Given the description of an element on the screen output the (x, y) to click on. 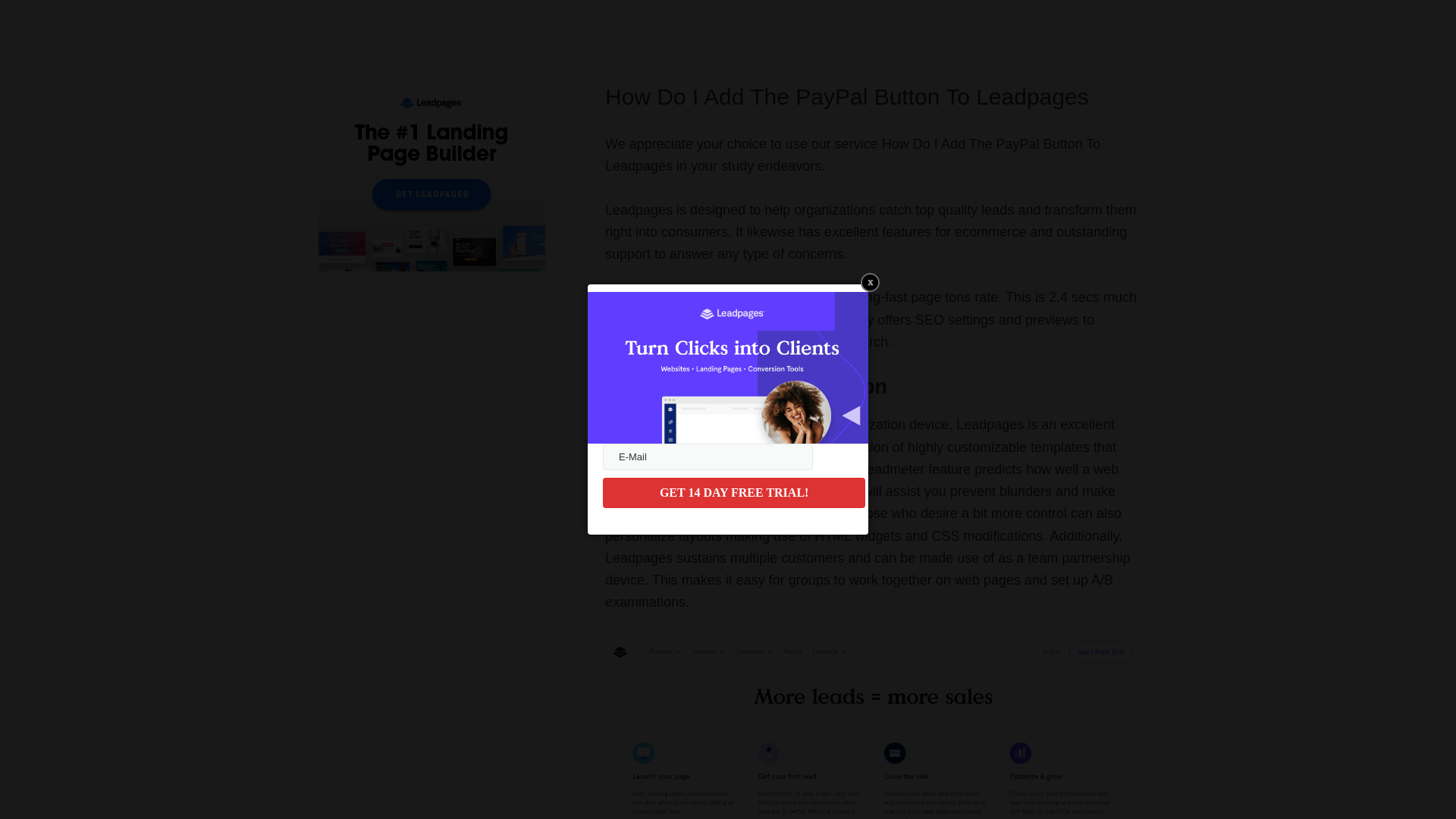
GET 14 DAY FREE TRIAL! (733, 492)
GET 14 DAY FREE TRIAL! (733, 492)
